Given the description of an element on the screen output the (x, y) to click on. 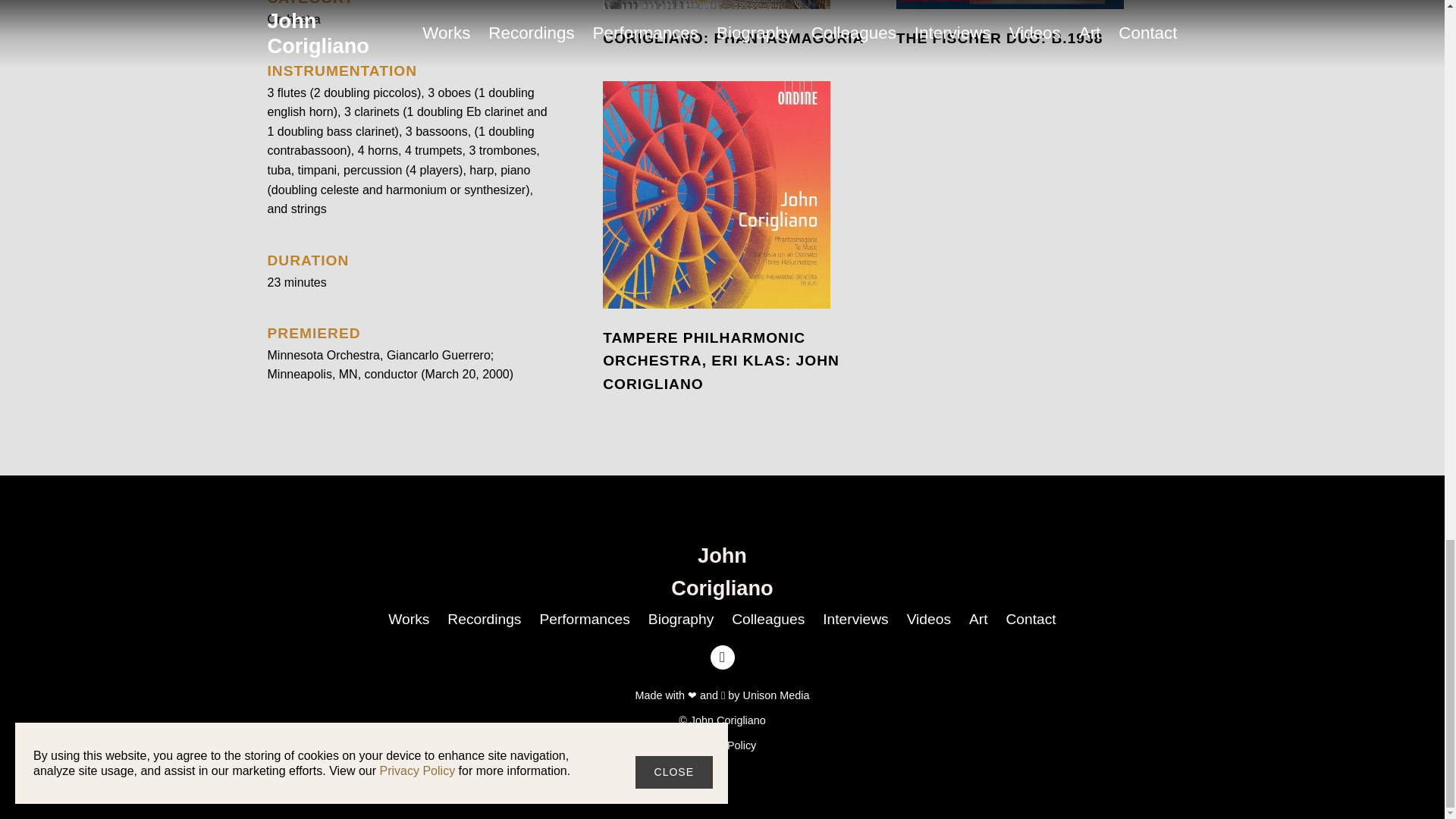
Contact (1031, 618)
Biography (680, 618)
Unison Media (775, 695)
Interviews (854, 618)
Works (408, 618)
Art (978, 618)
Privacy Policy (722, 745)
John Corigliano (721, 572)
Videos (928, 618)
Performances (584, 618)
Recordings (483, 618)
Colleagues (767, 618)
